Given the description of an element on the screen output the (x, y) to click on. 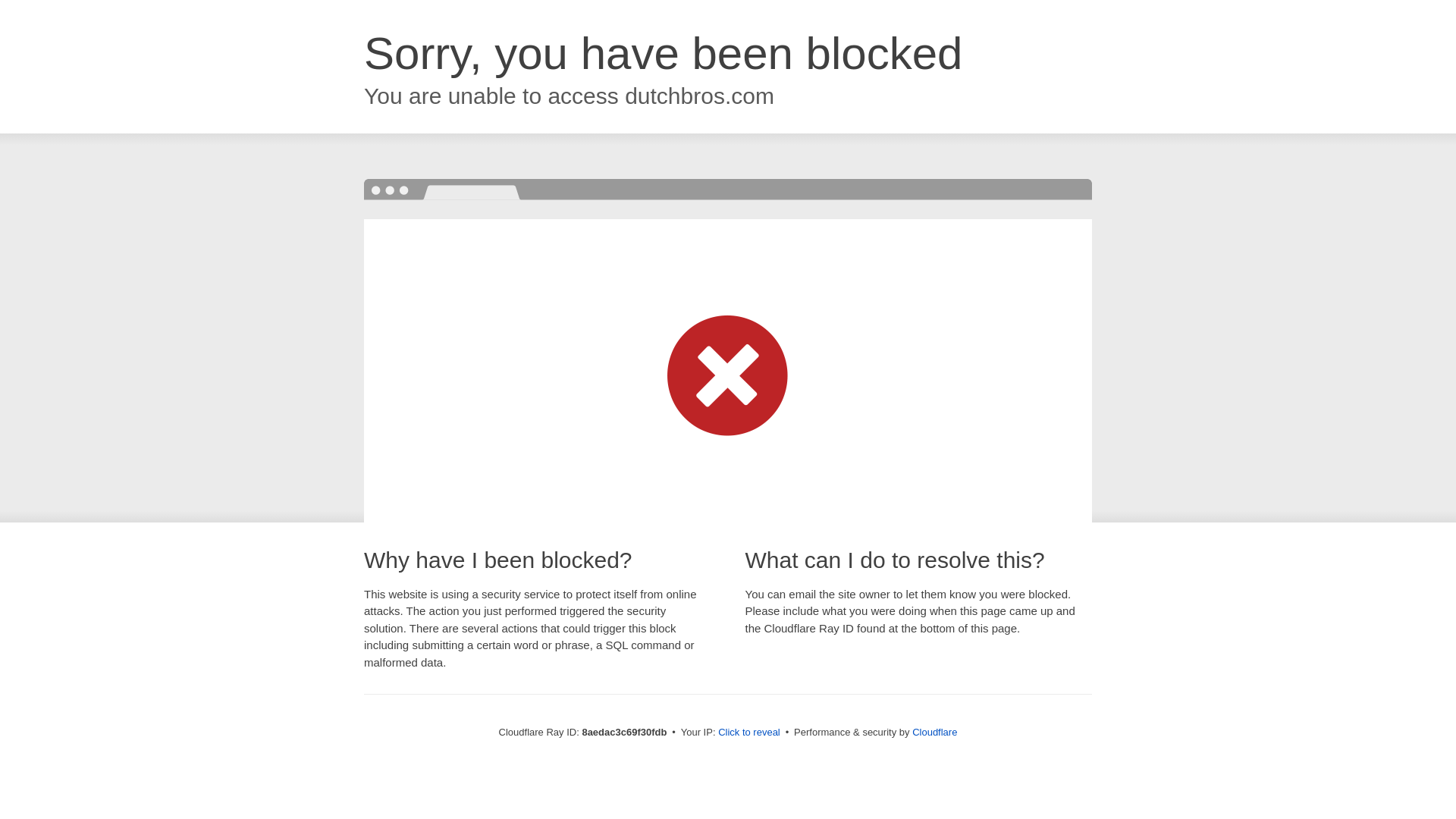
Click to reveal (748, 732)
Cloudflare (934, 731)
